Given the description of an element on the screen output the (x, y) to click on. 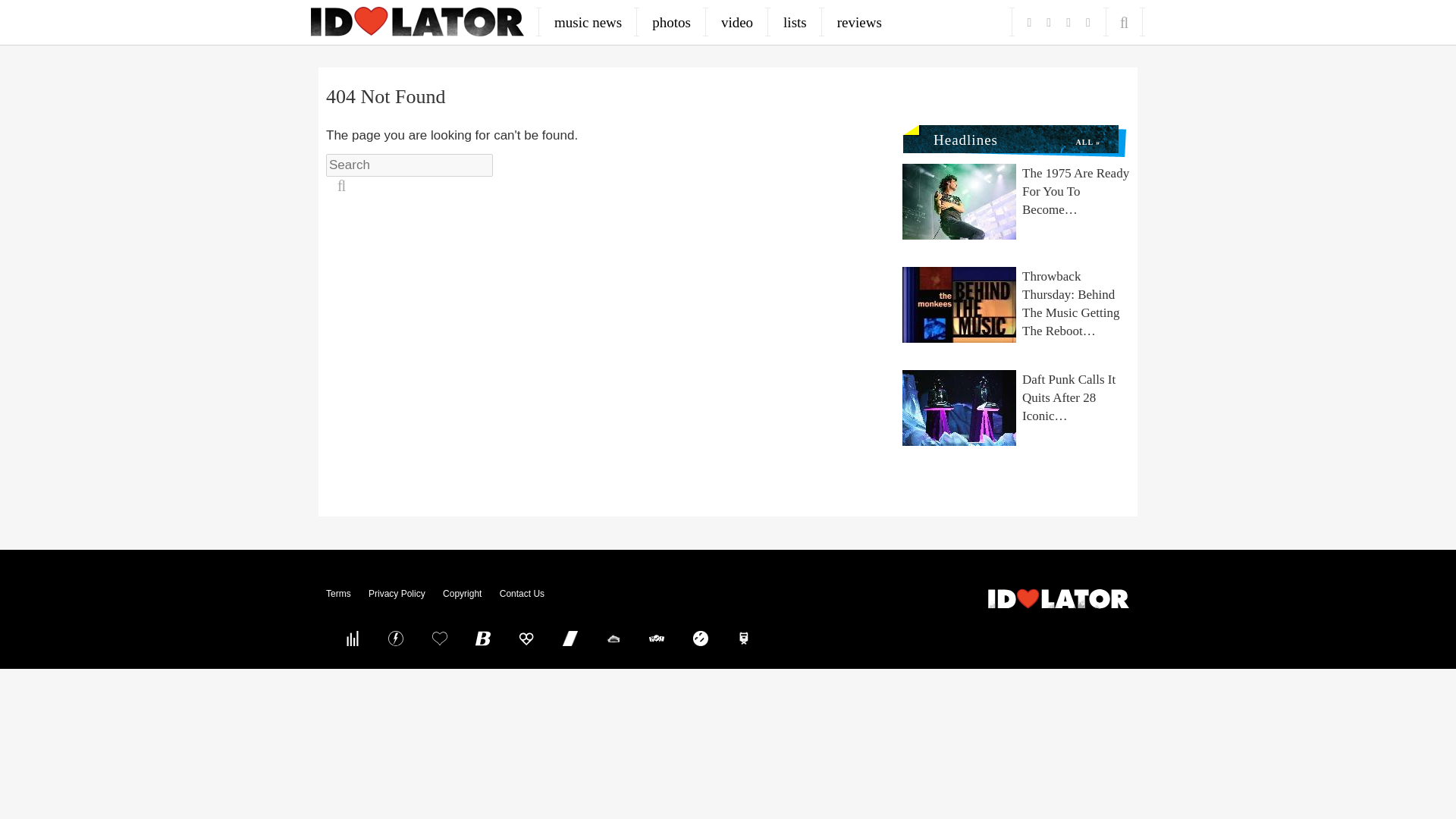
Terms (338, 593)
Daily Funny (699, 638)
Copyright (461, 593)
Buzznet (395, 638)
music news (587, 22)
Trend Chaser (570, 638)
lists (795, 22)
Explored Hollywood (743, 638)
Hooch (526, 638)
Quizscape (656, 638)
BleacherBreaker (483, 638)
Contact Us (521, 593)
Pure Volume (351, 638)
reviews (859, 22)
Headlines (958, 136)
